Given the description of an element on the screen output the (x, y) to click on. 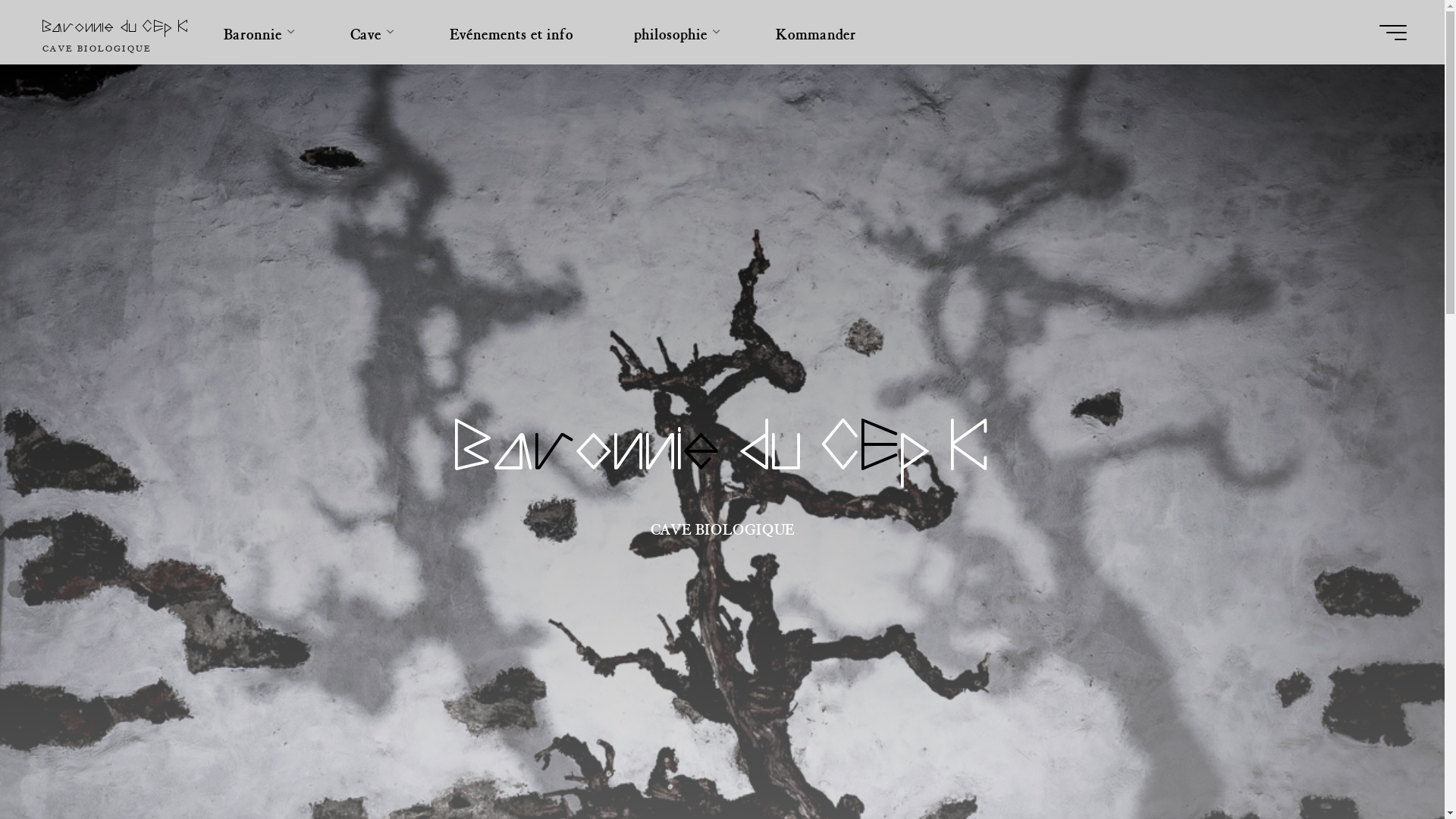
Lire la suite Element type: hover (722, 792)
Baronnie Element type: text (256, 32)
Cave Element type: text (369, 32)
Kommander Element type: text (815, 32)
philosophie Element type: text (674, 32)
Baronnie du CEp K Element type: text (115, 26)
